Given the description of an element on the screen output the (x, y) to click on. 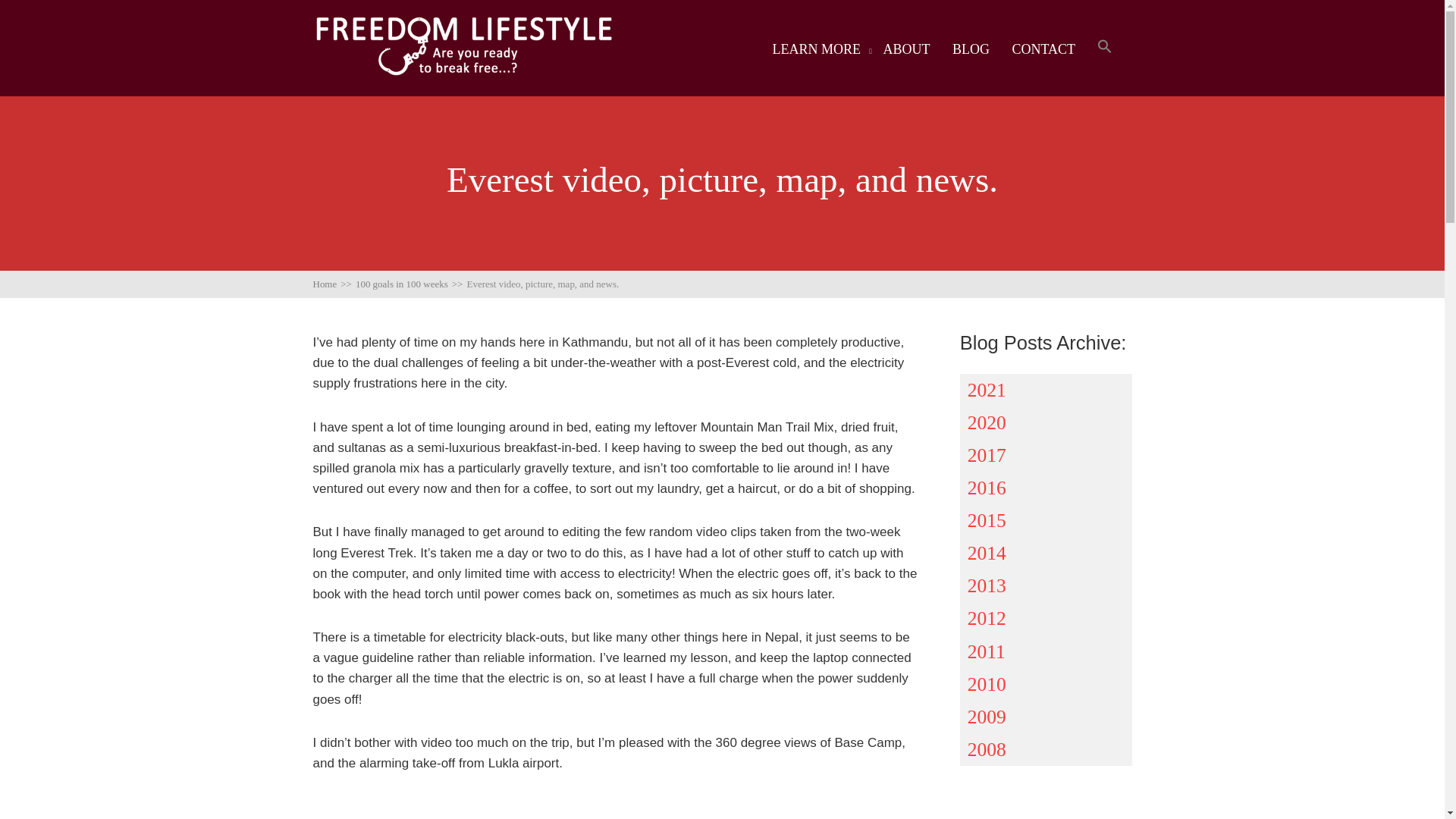
2017 (1045, 454)
2021 (1045, 389)
LEARN MORE (815, 49)
2015 (1045, 520)
ABOUT (906, 49)
CONTACT (1043, 49)
2020 (1045, 422)
BLOG (971, 49)
2016 (1045, 487)
